Given the description of an element on the screen output the (x, y) to click on. 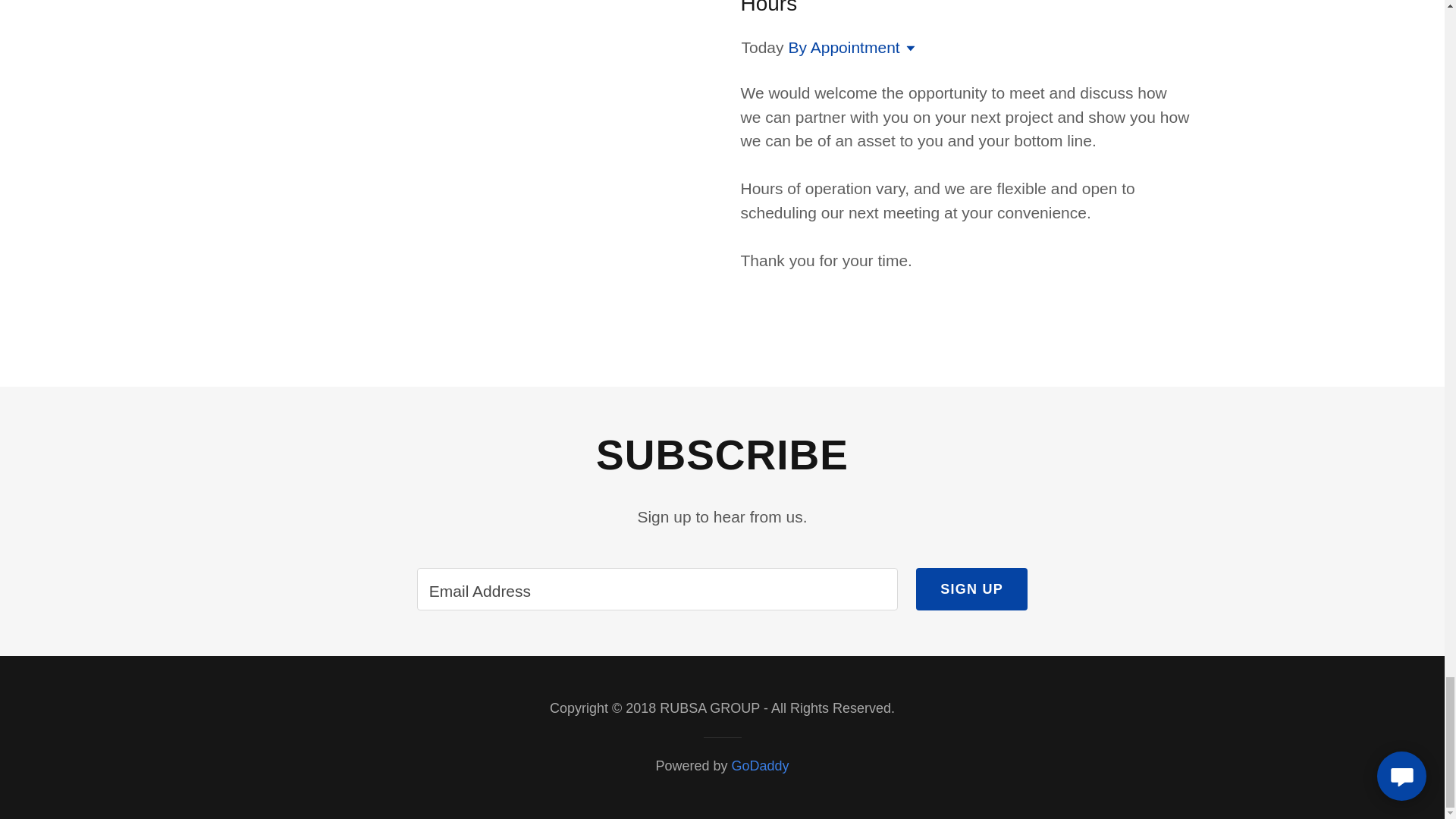
GoDaddy (759, 765)
SIGN UP (971, 589)
